Given the description of an element on the screen output the (x, y) to click on. 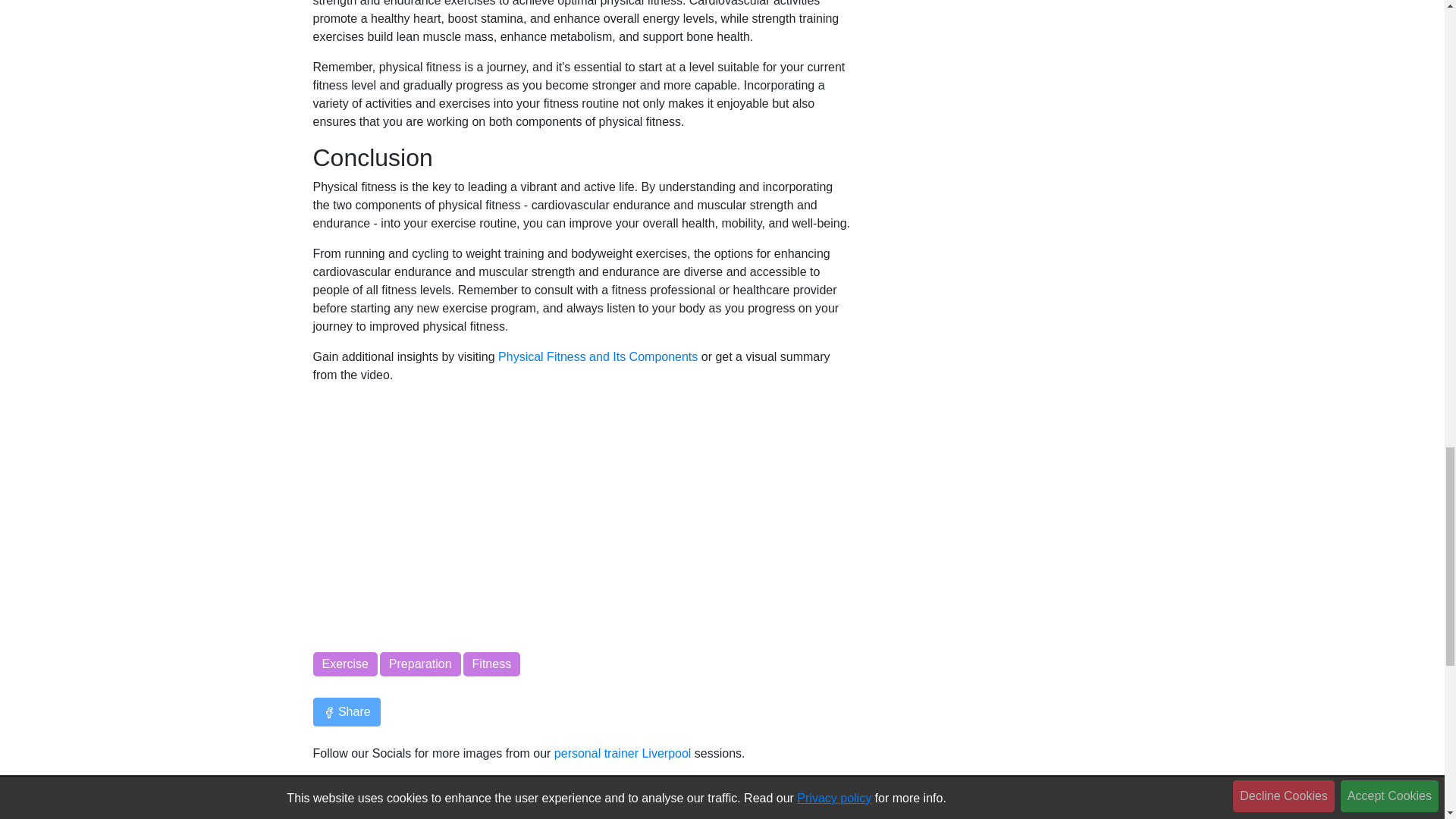
Share (346, 711)
Preparation (420, 663)
Share (346, 710)
Exercise (345, 663)
Physical Fitness and Its Components (597, 356)
Fitness (492, 663)
